Given the description of an element on the screen output the (x, y) to click on. 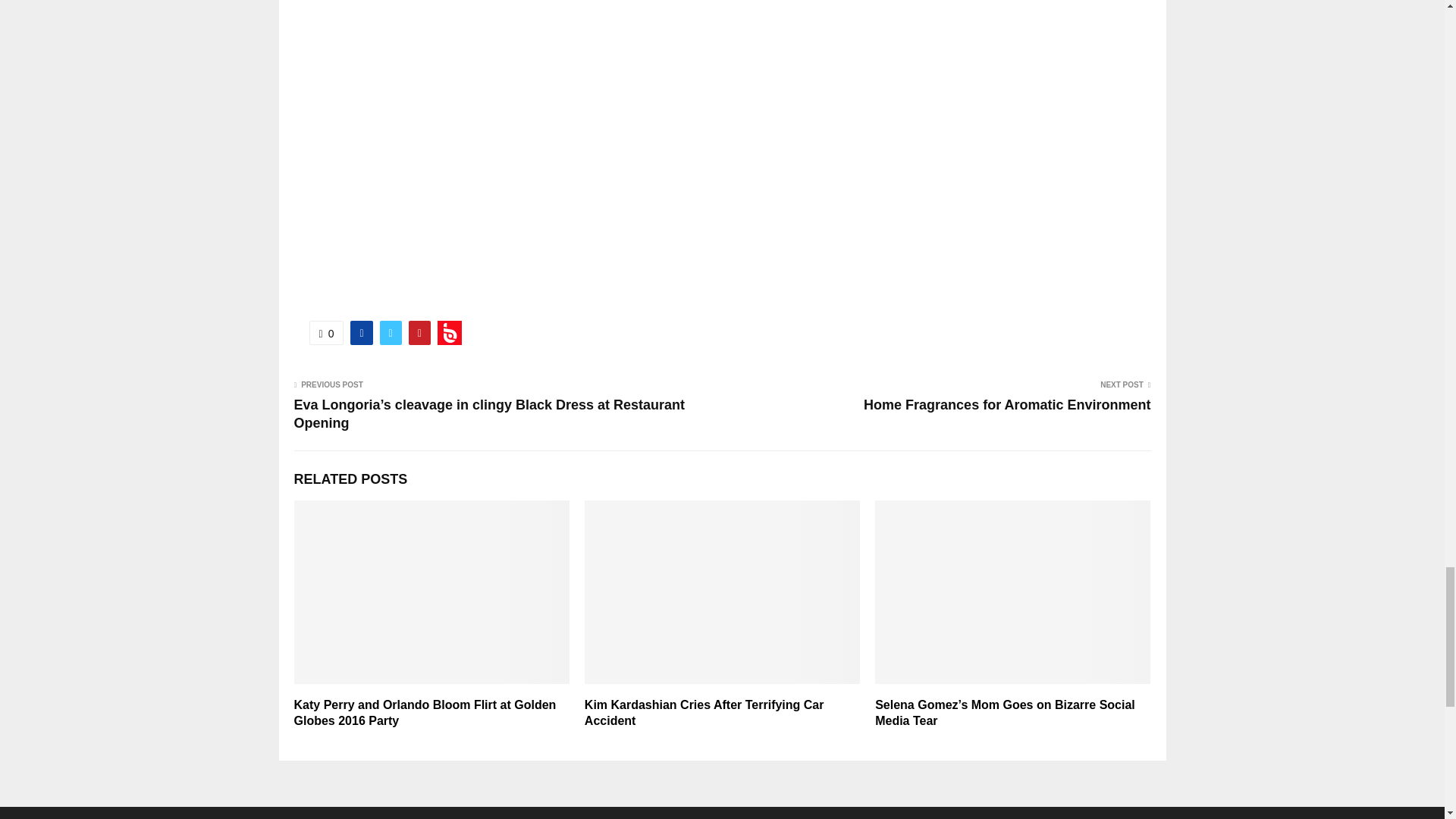
Home Fragrances for Aromatic Environment (1006, 404)
Advertisement (722, 25)
Like (325, 332)
0 (325, 332)
